Given the description of an element on the screen output the (x, y) to click on. 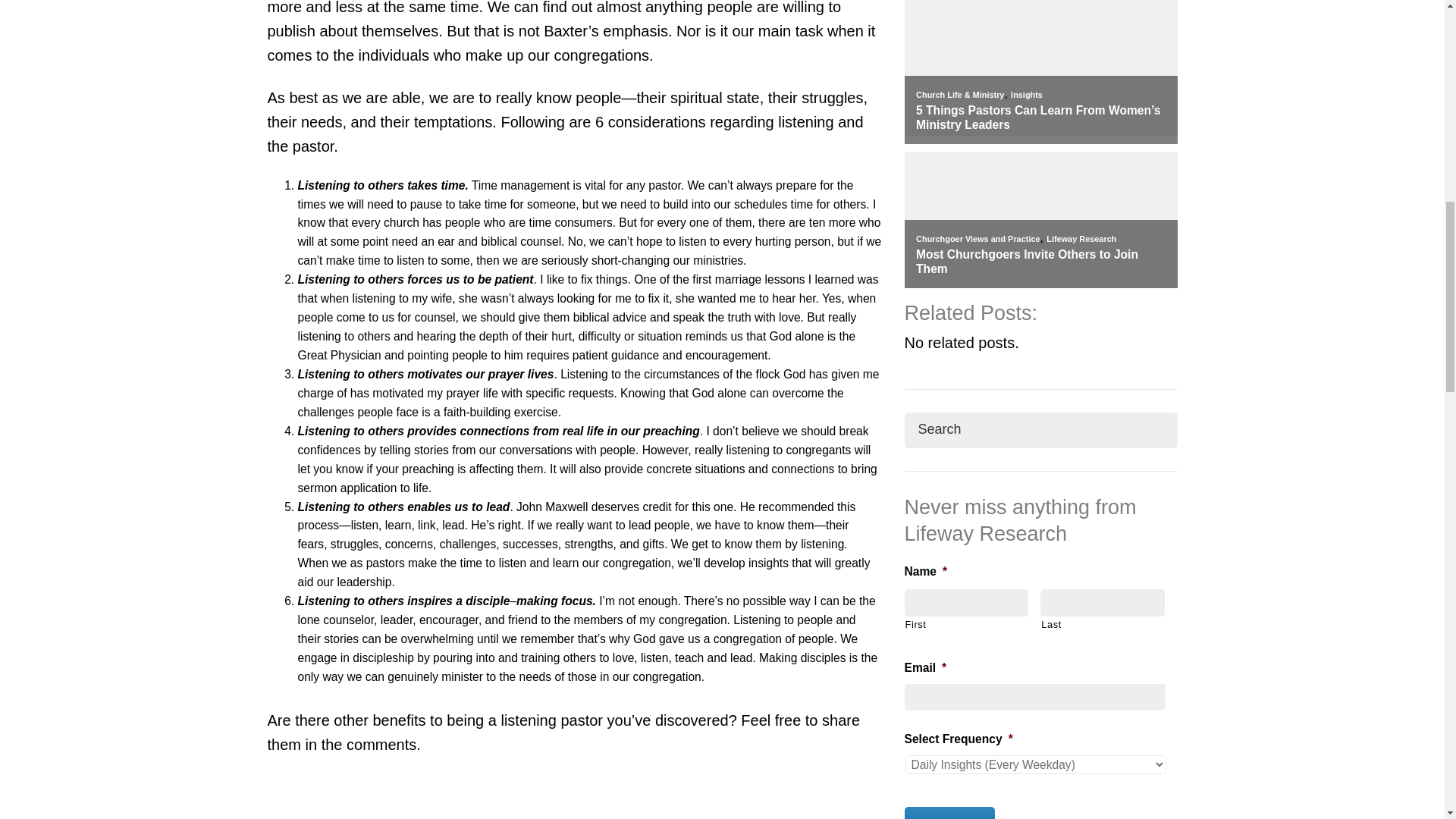
Churchgoer Views and Practice (977, 238)
Submit (949, 812)
Insights (1026, 94)
